Given the description of an element on the screen output the (x, y) to click on. 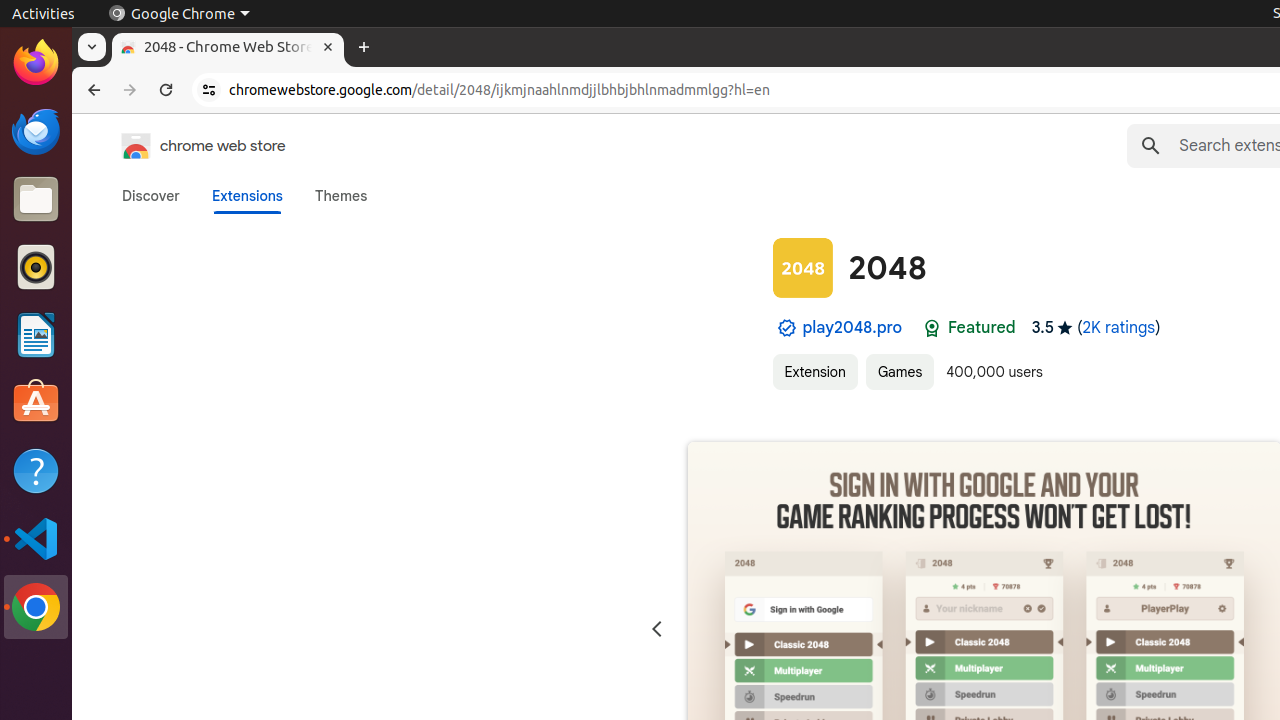
Reload Element type: push-button (166, 90)
Files Element type: push-button (36, 199)
Back Element type: push-button (91, 90)
Discover Element type: page-tab (151, 196)
Rhythmbox Element type: push-button (36, 267)
